Given the description of an element on the screen output the (x, y) to click on. 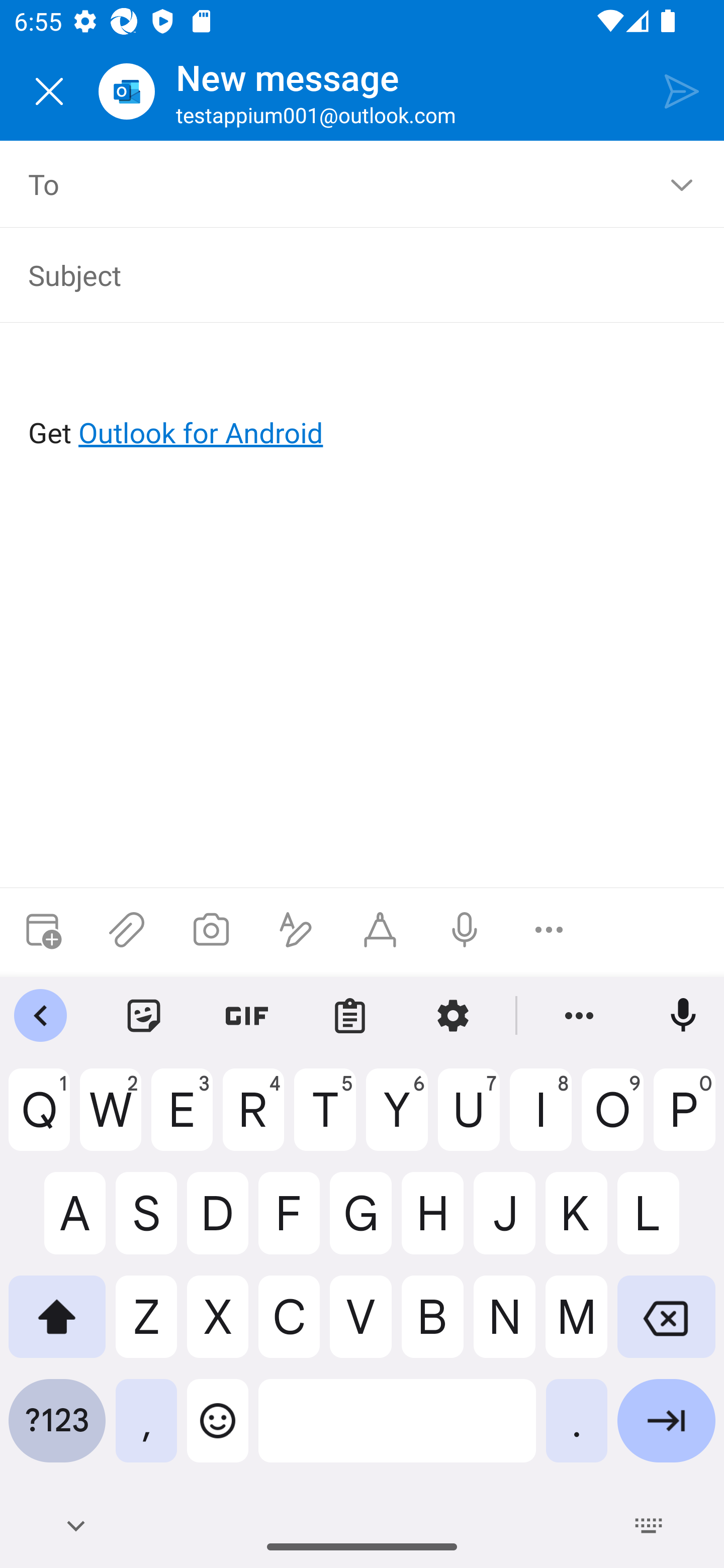
Close (49, 91)
Send (681, 90)
Subject (347, 274)


Get Outlook for Android (363, 400)
Attach meeting (42, 929)
Attach files (126, 929)
Take a photo (210, 929)
Show formatting options (295, 929)
Start Ink compose (380, 929)
Dictation (464, 929)
More options (548, 929)
